Given the description of an element on the screen output the (x, y) to click on. 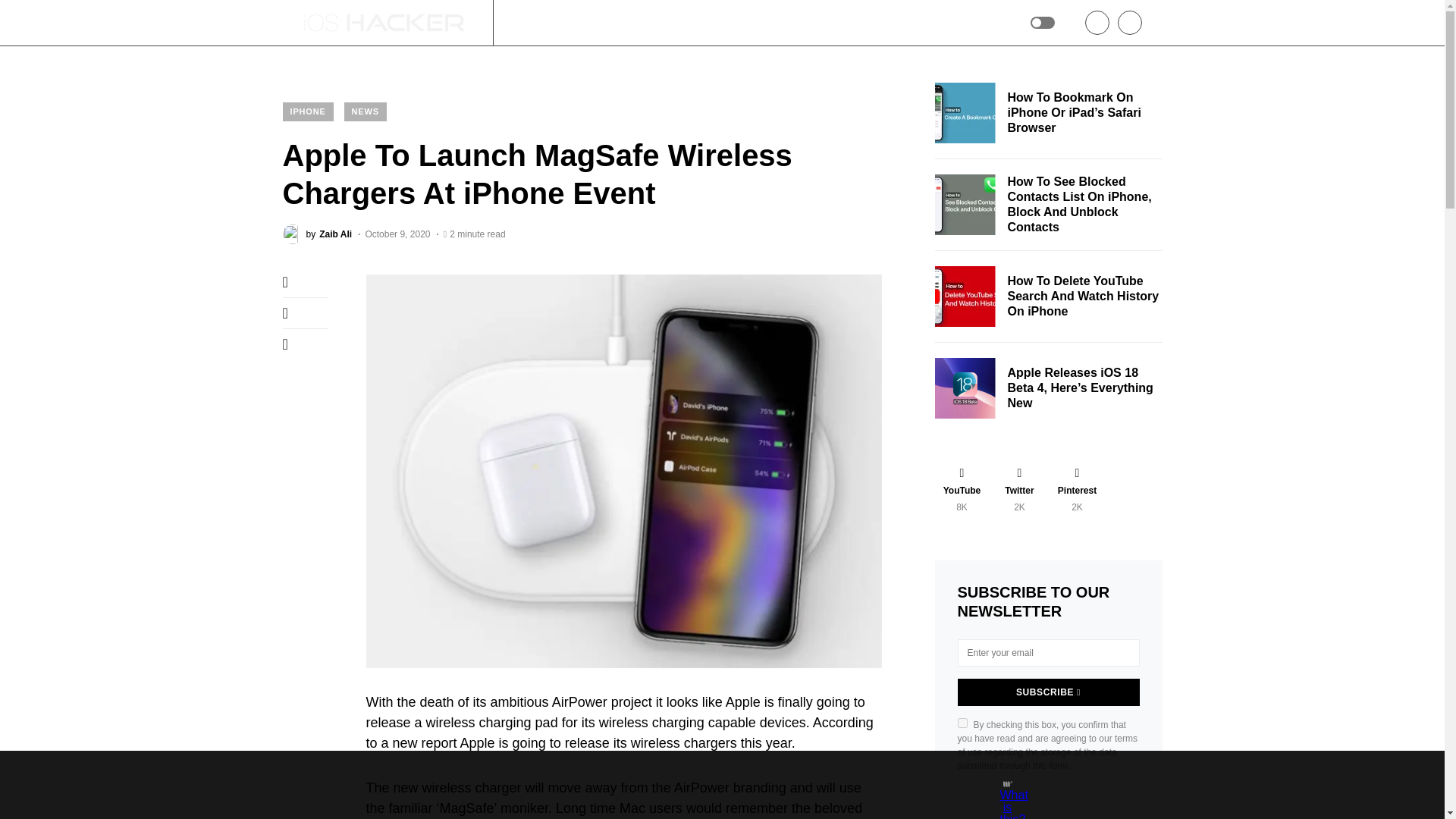
3rd party ad content (708, 785)
View all posts by Zaib Ali (317, 234)
on (961, 723)
